Given the description of an element on the screen output the (x, y) to click on. 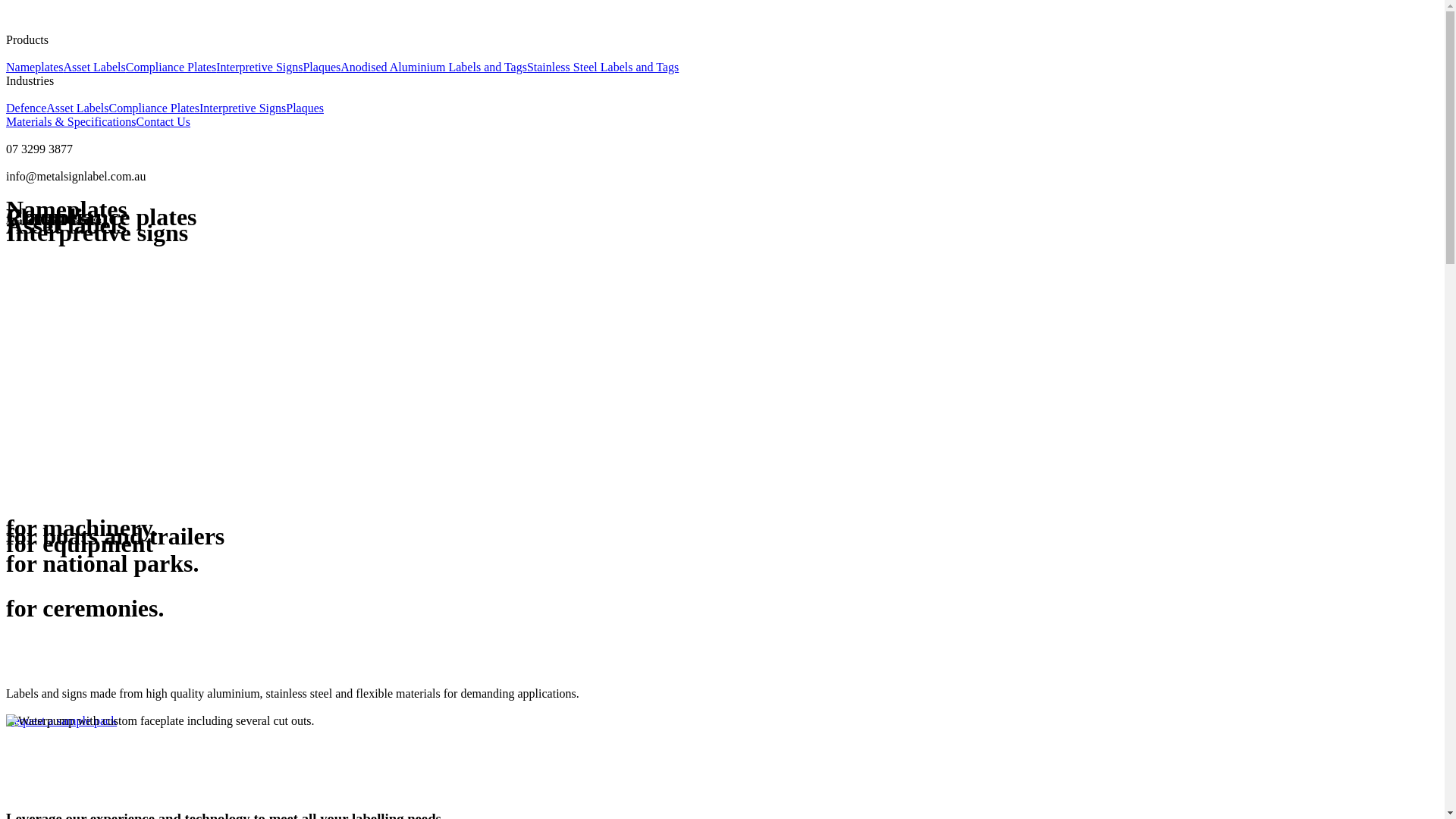
Materials & Specifications Element type: text (71, 121)
Asset Labels Element type: text (94, 66)
Stainless Steel Labels and Tags Element type: text (602, 66)
Compliance Plates Element type: text (170, 66)
Request a sample pack Element type: text (722, 714)
Nameplates Element type: text (34, 66)
Interpretive Signs Element type: text (259, 66)
Defence Element type: text (26, 107)
Compliance Plates Element type: text (154, 107)
Plaques Element type: text (304, 107)
Asset Labels Element type: text (77, 107)
Interpretive Signs Element type: text (242, 107)
Contact Us Element type: text (163, 121)
Anodised Aluminium Labels and Tags Element type: text (433, 66)
Plaques Element type: text (321, 66)
